Given the description of an element on the screen output the (x, y) to click on. 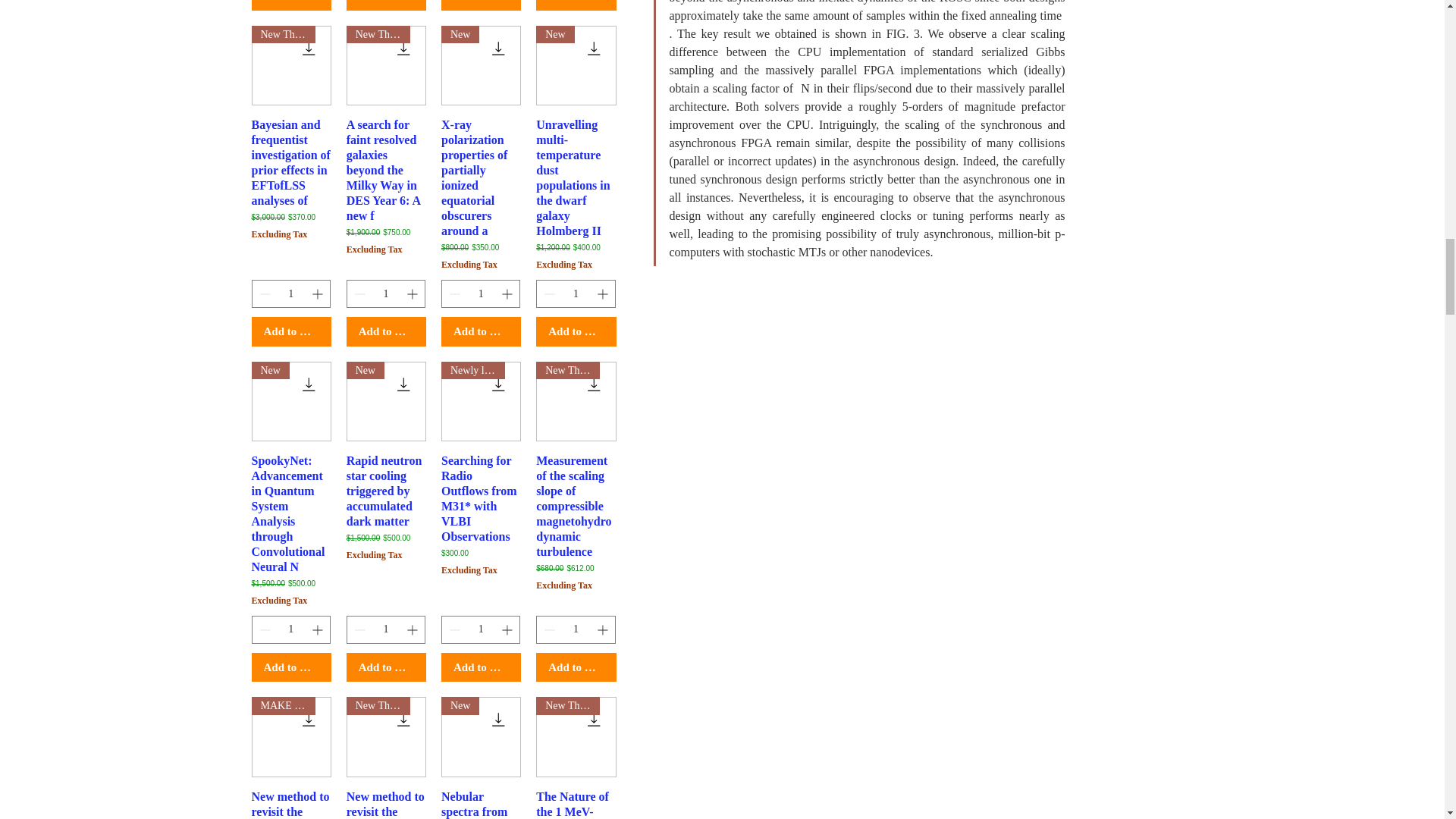
1 (290, 629)
Add to Cart (481, 5)
1 (386, 294)
Add to Cart (291, 5)
1 (290, 294)
1 (386, 629)
1 (481, 294)
1 (575, 294)
Add to Cart (386, 5)
1 (575, 629)
